Given the description of an element on the screen output the (x, y) to click on. 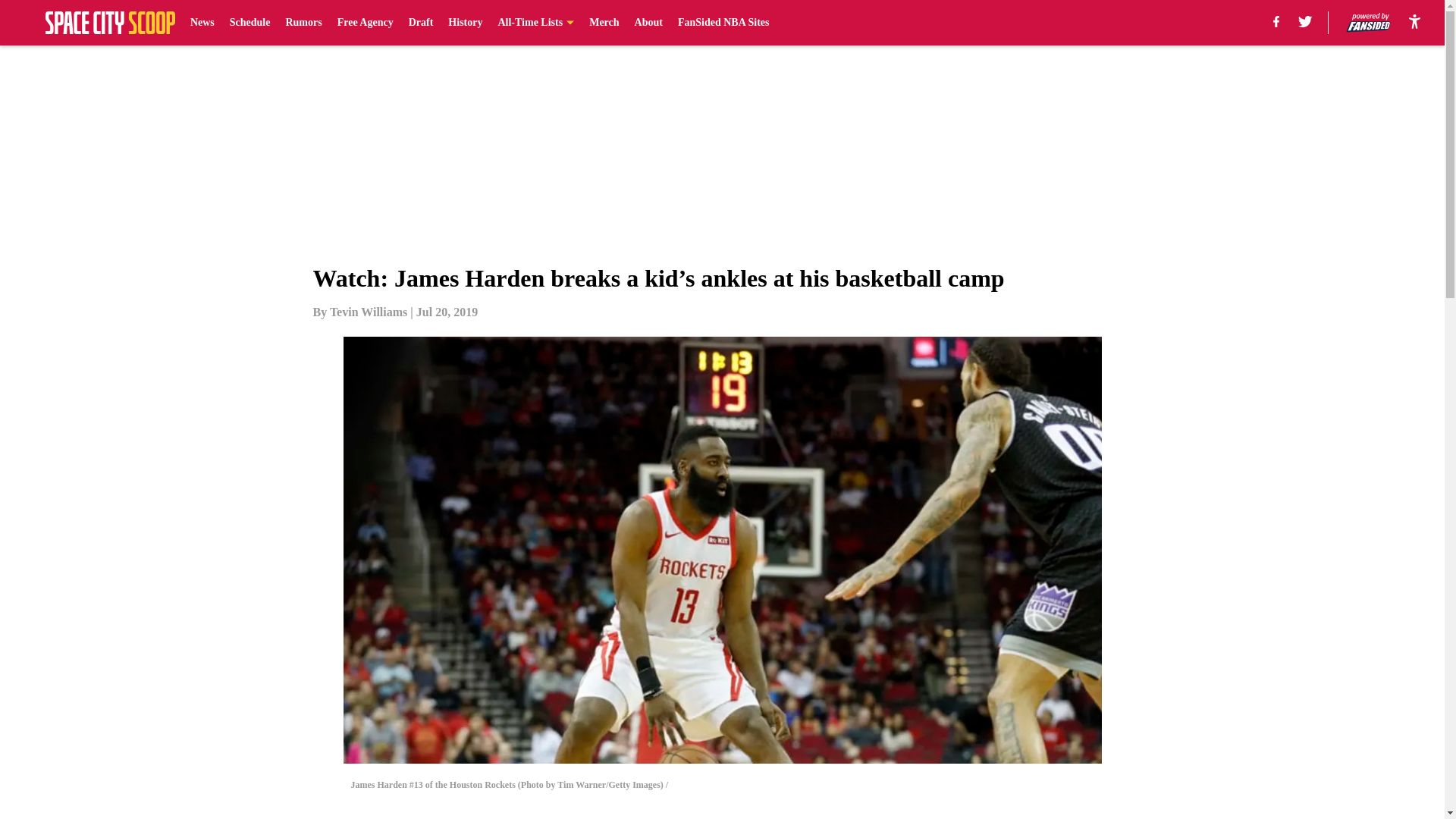
Merch (603, 22)
About (648, 22)
Rumors (303, 22)
Draft (421, 22)
History (464, 22)
News (202, 22)
All-Time Lists (535, 22)
FanSided NBA Sites (724, 22)
Free Agency (365, 22)
Schedule (250, 22)
